Given the description of an element on the screen output the (x, y) to click on. 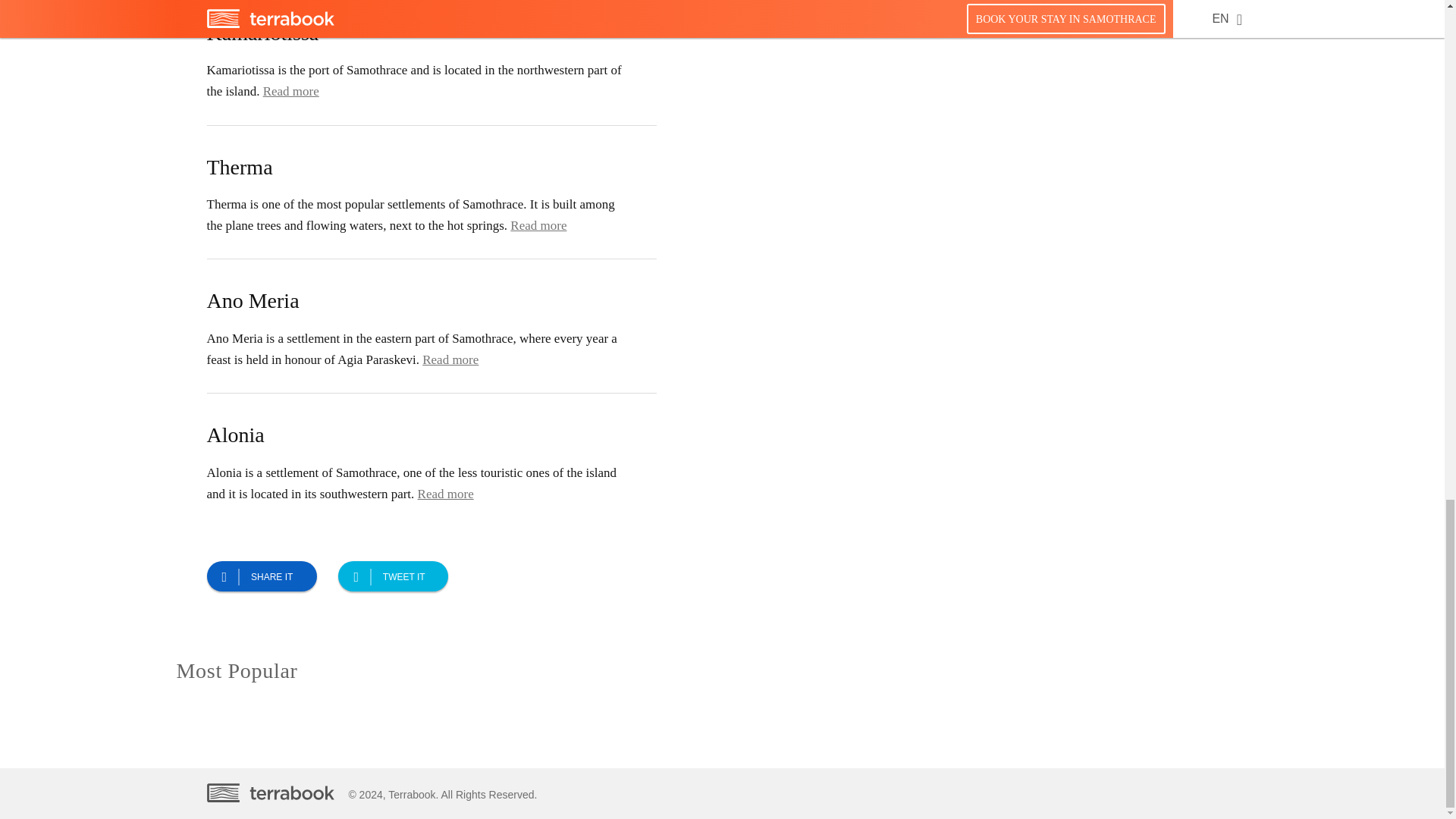
TWEET IT (392, 576)
Read more (450, 359)
Read more (290, 91)
SHARE IT (260, 576)
Read more (538, 225)
Read more (445, 493)
